Given the description of an element on the screen output the (x, y) to click on. 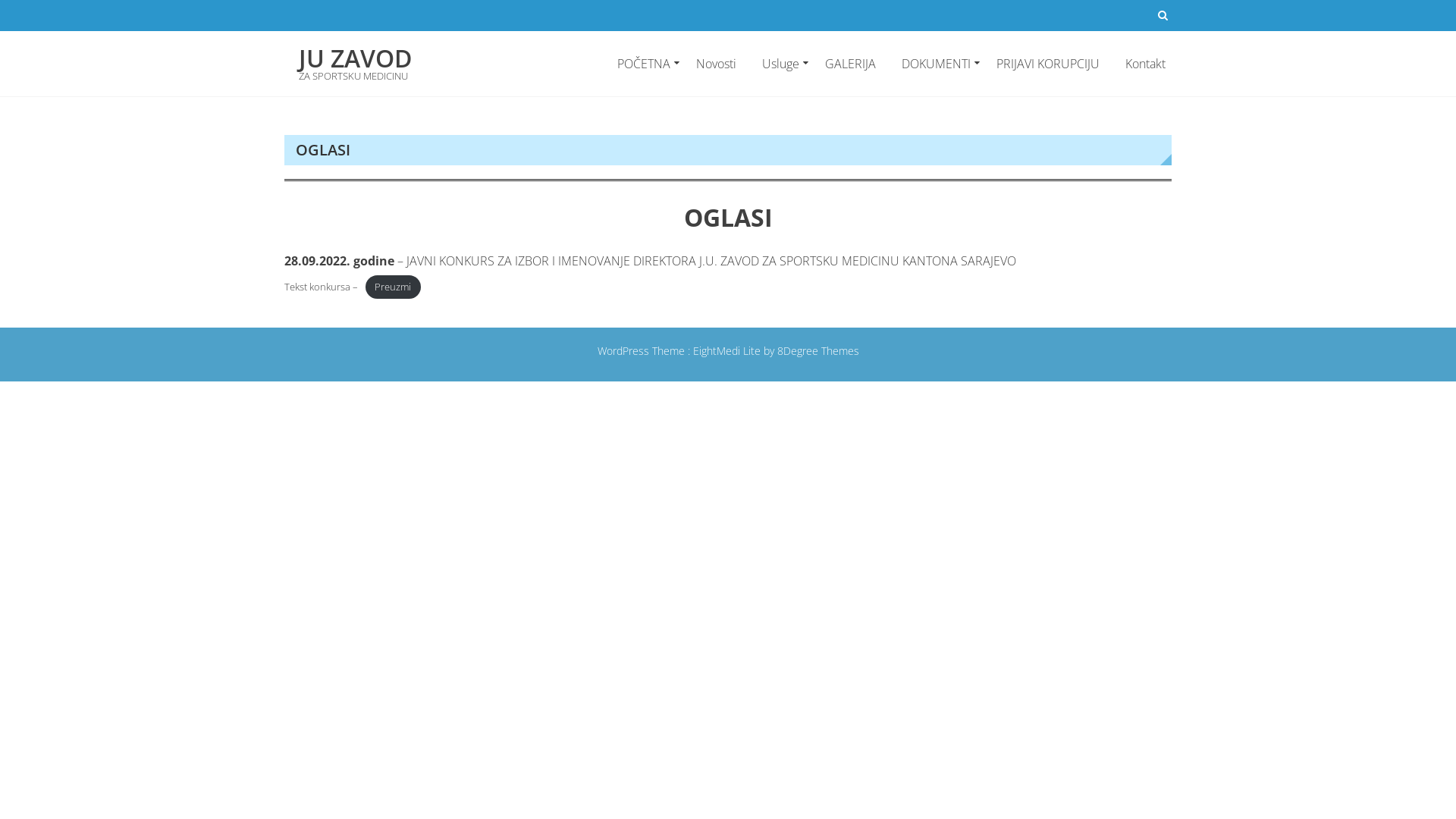
JU ZAVOD
ZA SPORTSKU MEDICINU Element type: text (354, 65)
EightMedi Lite Element type: text (728, 350)
Kontakt Element type: text (1139, 63)
Usluge Element type: text (780, 63)
GALERIJA Element type: text (850, 63)
Novosti Element type: text (715, 63)
DOKUMENTI Element type: text (936, 63)
Preuzmi Element type: text (393, 286)
PRIJAVI KORUPCIJU Element type: text (1047, 63)
